Given the description of an element on the screen output the (x, y) to click on. 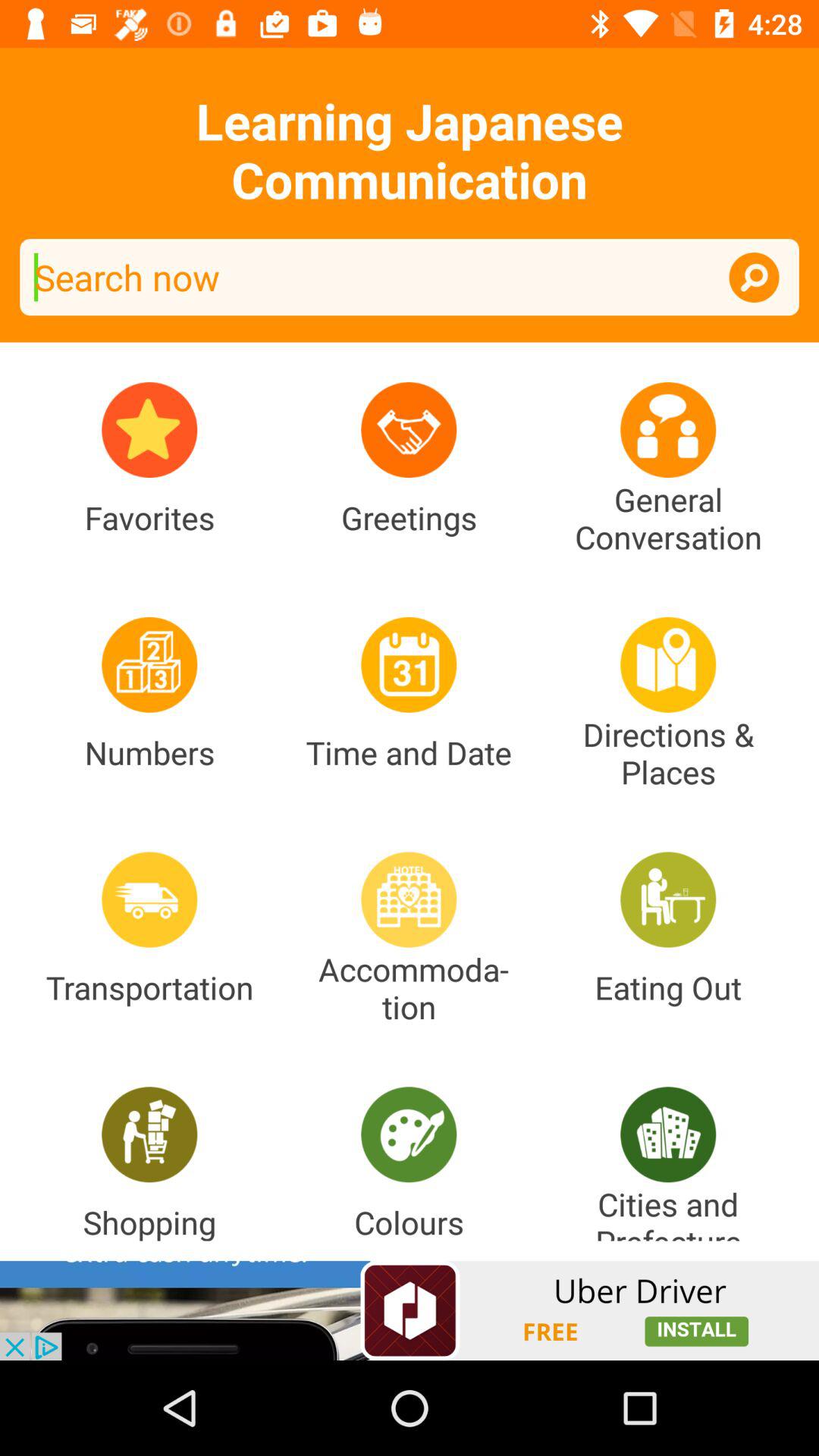
open advertisement (409, 1310)
